Given the description of an element on the screen output the (x, y) to click on. 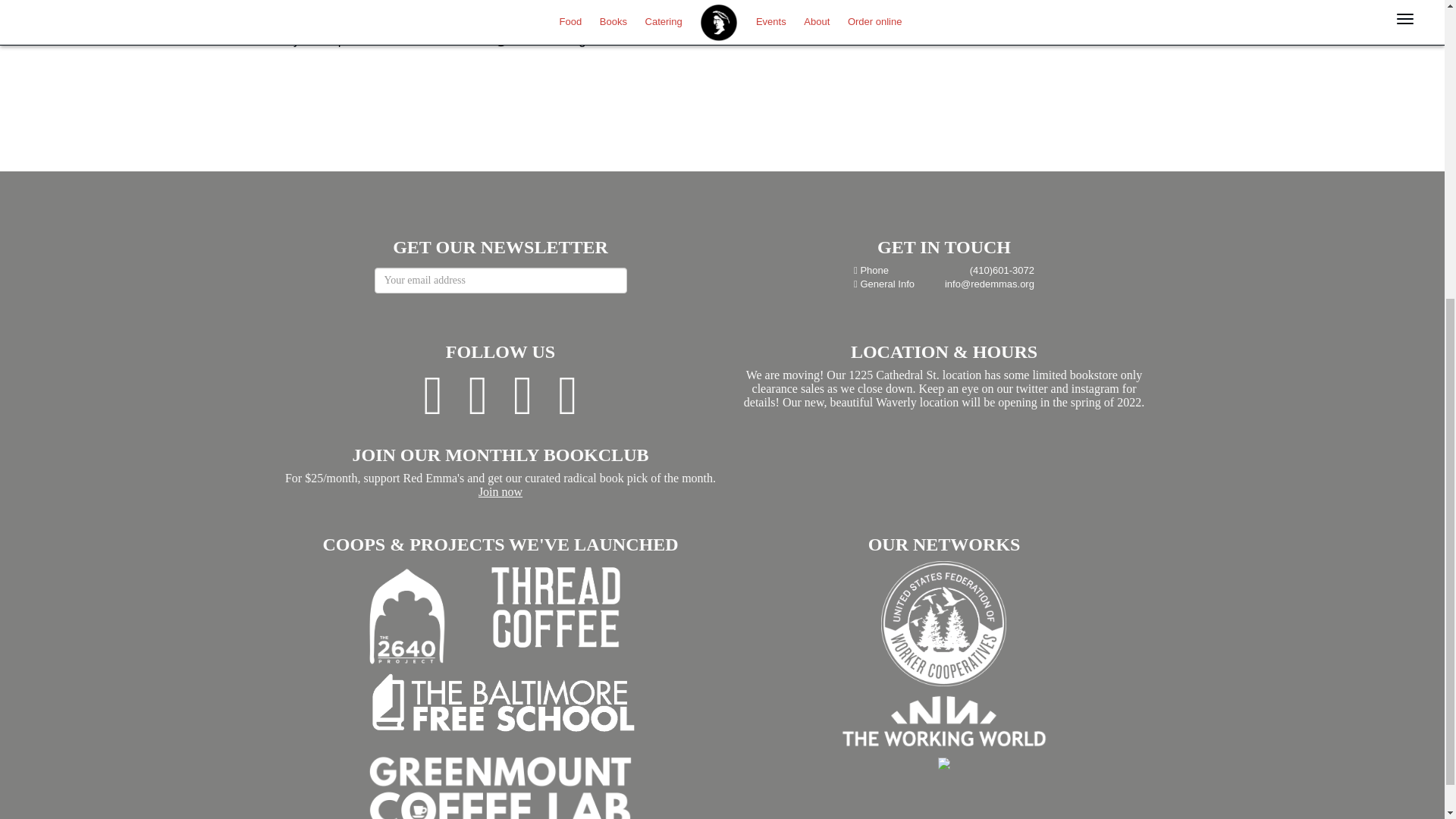
Yes!  (292, 14)
